Given the description of an element on the screen output the (x, y) to click on. 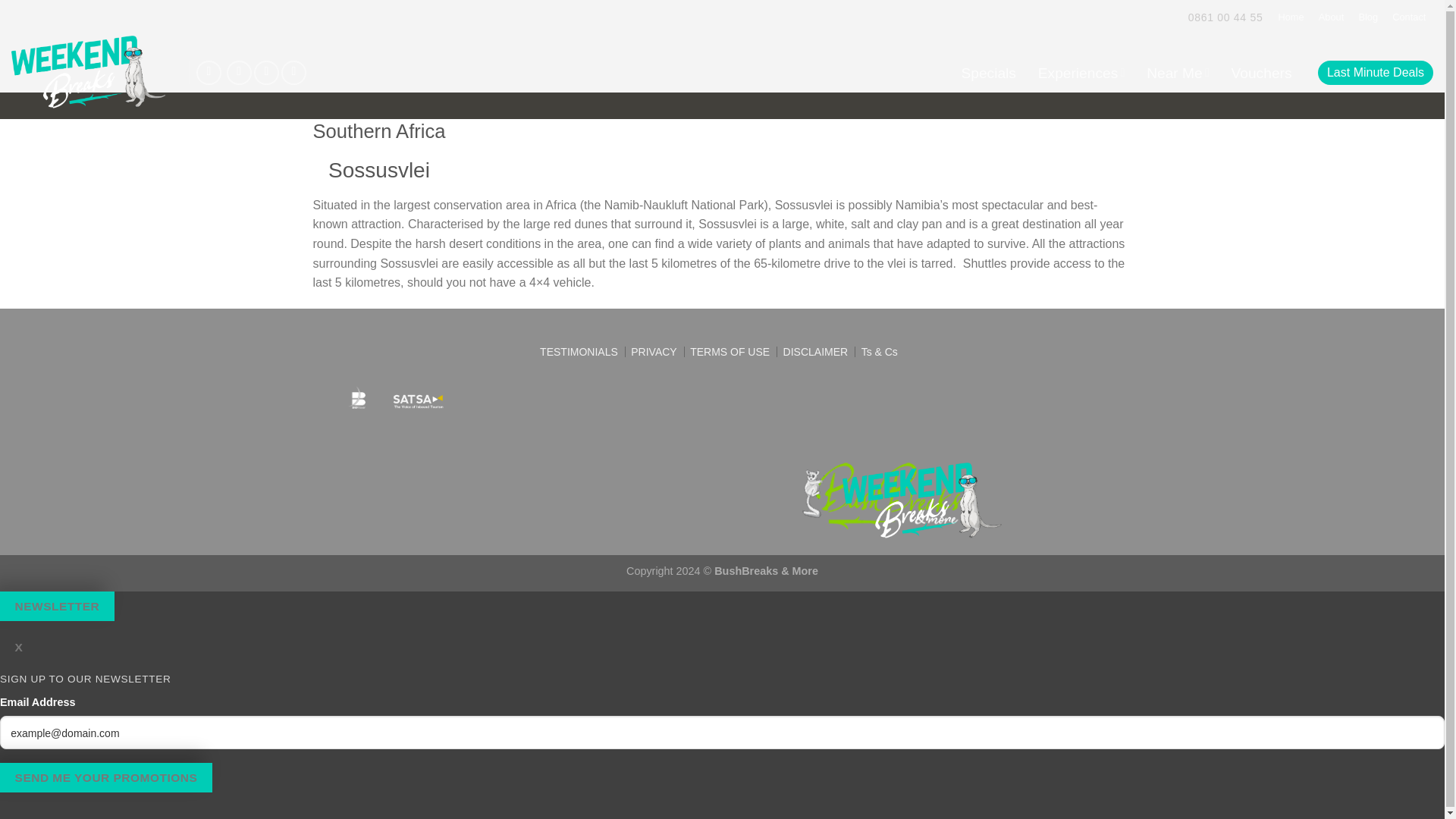
Specials (988, 71)
WeekendBreaks - The Best in South African Weekend Getaways (88, 72)
E-Mail (208, 72)
Home (1291, 17)
0861 00 44 55 (1226, 17)
Follow on Instagram (266, 72)
Blog (1368, 17)
Contact (1409, 17)
About (1331, 17)
Near Me (1177, 71)
